Given the description of an element on the screen output the (x, y) to click on. 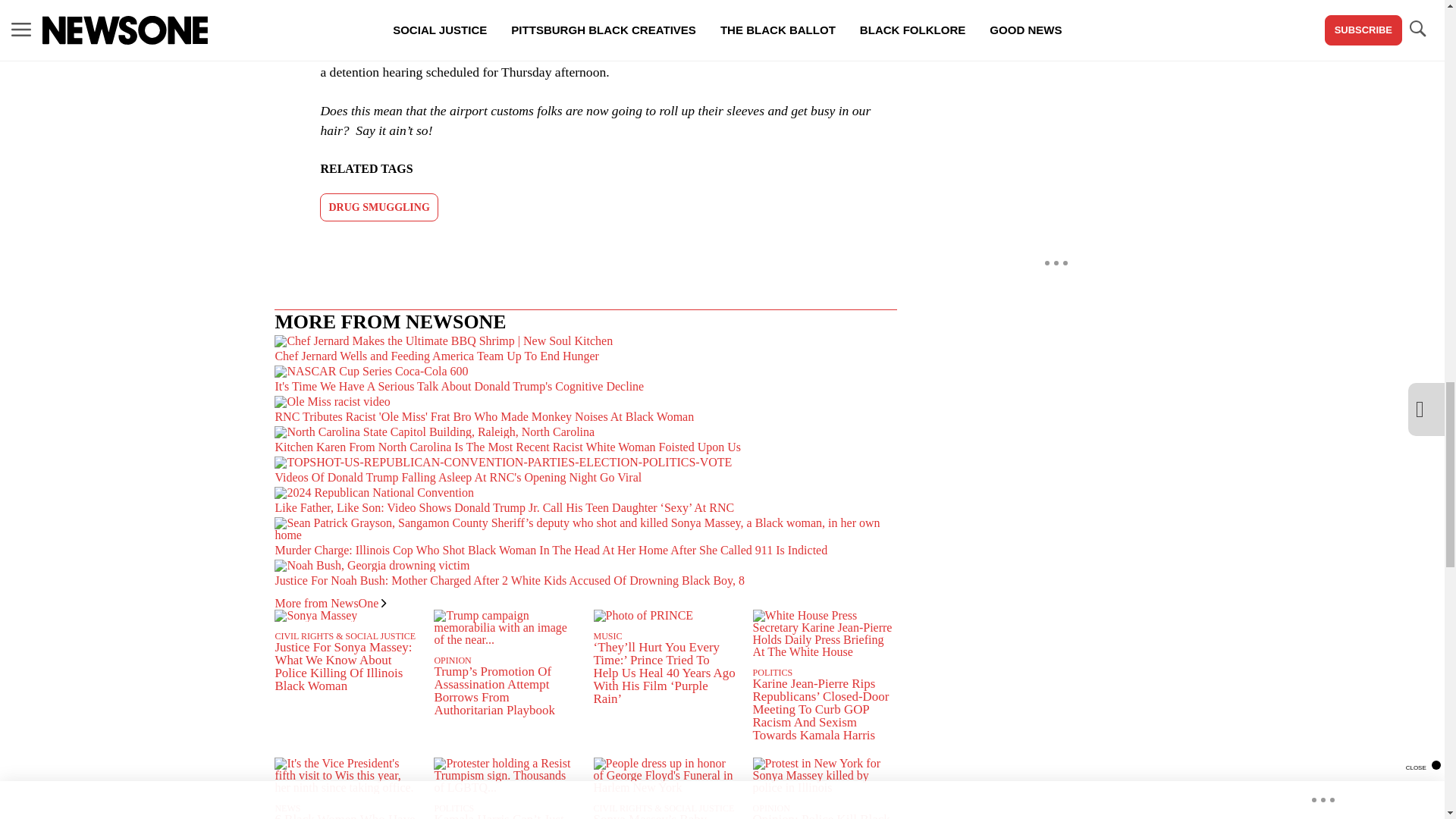
DRUG SMUGGLING (379, 207)
OPINION (451, 660)
Chef Jernard Wells and Feeding America Team Up To End Hunger (585, 349)
More from NewsOne (330, 603)
MUSIC (606, 635)
